Given the description of an element on the screen output the (x, y) to click on. 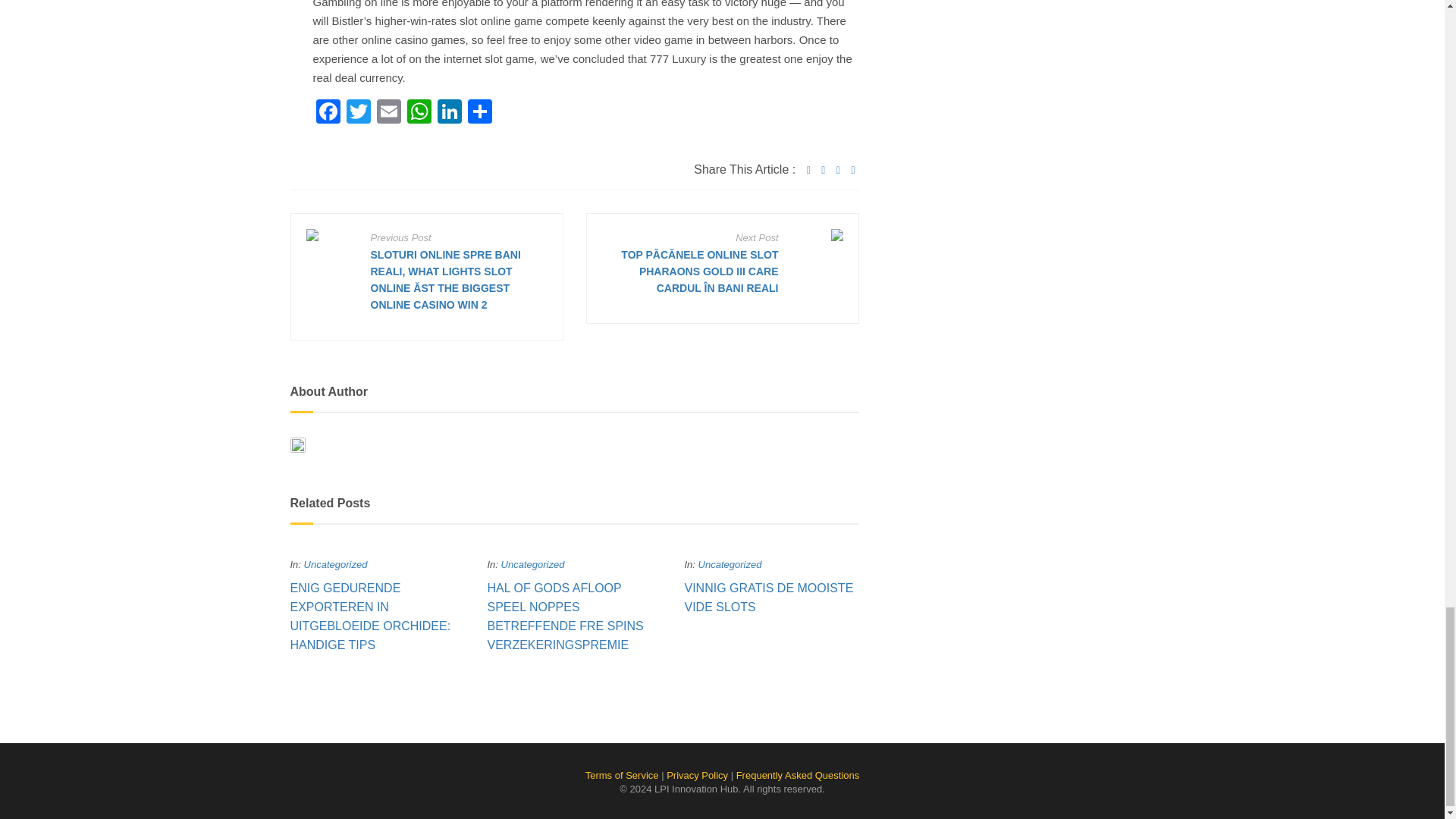
Facebook (327, 113)
LinkedIn (448, 113)
Email (387, 113)
WhatsApp (418, 113)
Share (479, 113)
Facebook (327, 113)
LinkedIn (448, 113)
Email (387, 113)
Twitter (357, 113)
Twitter (357, 113)
WhatsApp (418, 113)
